Given the description of an element on the screen output the (x, y) to click on. 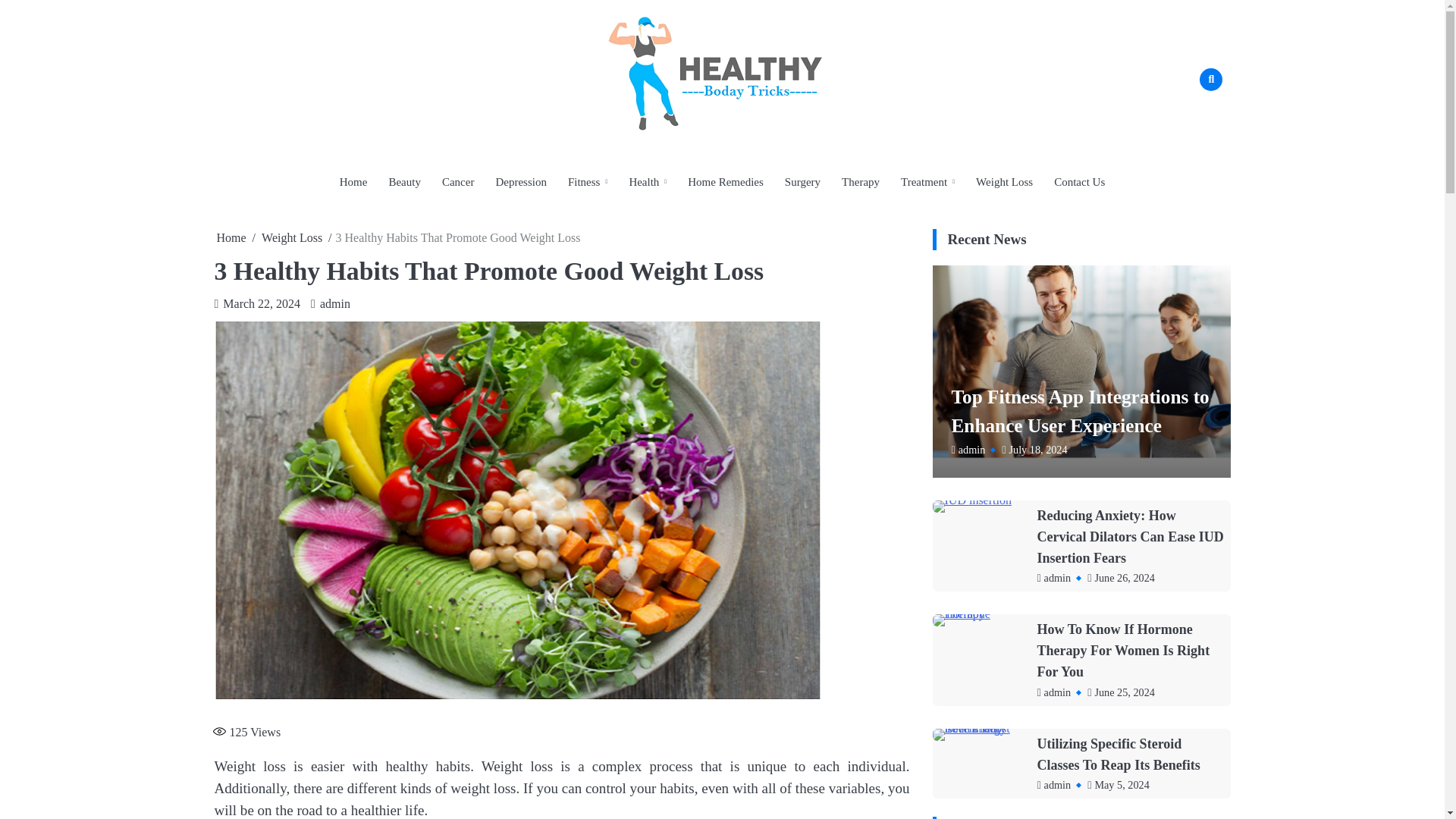
Home (231, 236)
Depression (520, 182)
Surgery (802, 182)
Weight Loss (291, 236)
Cancer (457, 182)
Health (647, 182)
Fitness (587, 182)
admin (330, 303)
Weight Loss (1004, 182)
Treatment (927, 182)
